Given the description of an element on the screen output the (x, y) to click on. 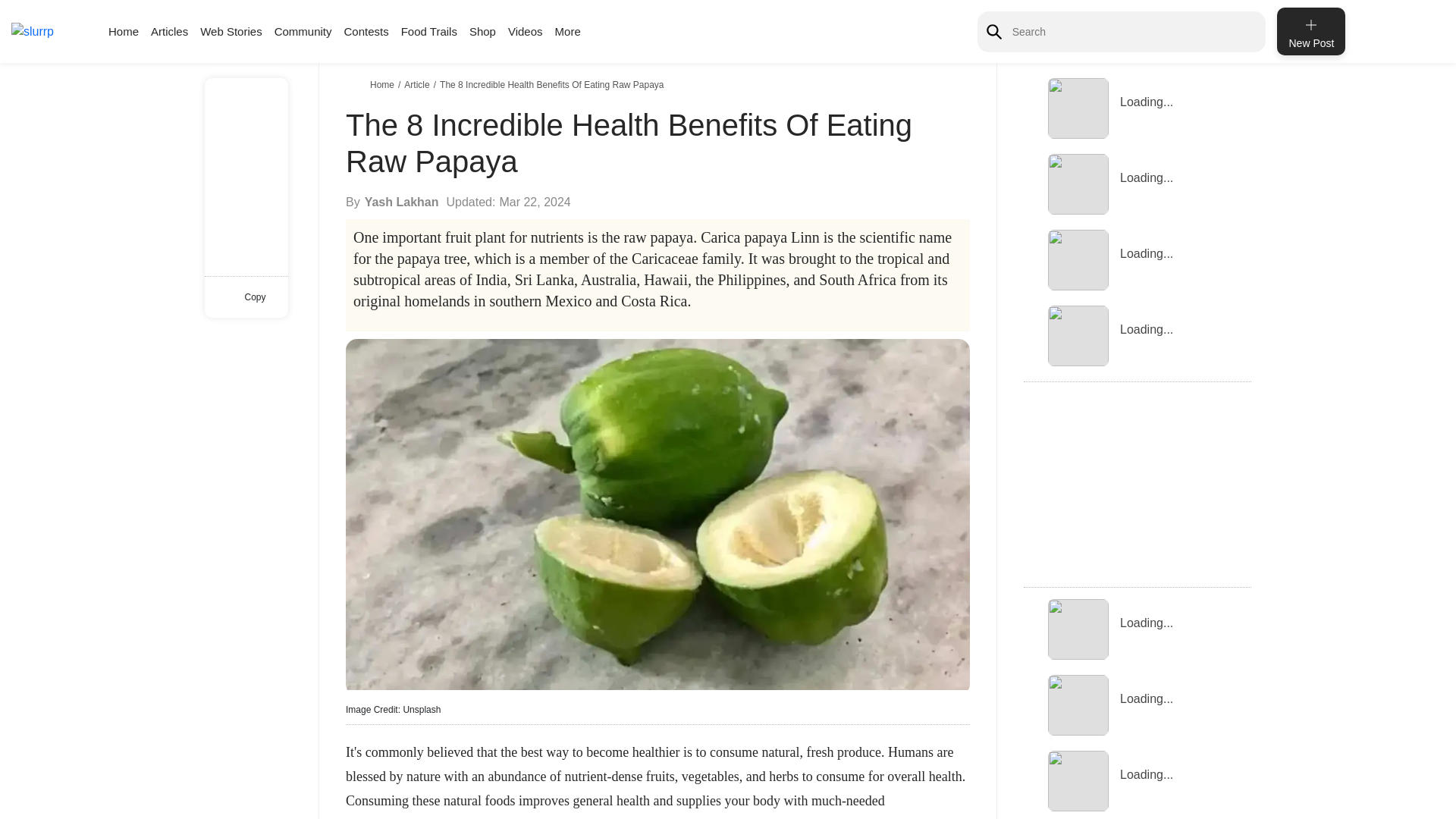
Videos (525, 31)
Contests (365, 31)
Articles (169, 31)
Home (383, 84)
Shop (482, 31)
Article (418, 84)
Community (303, 31)
New Post (1310, 31)
Home (122, 31)
Web Stories (231, 31)
Food Trails (429, 31)
